Given the description of an element on the screen output the (x, y) to click on. 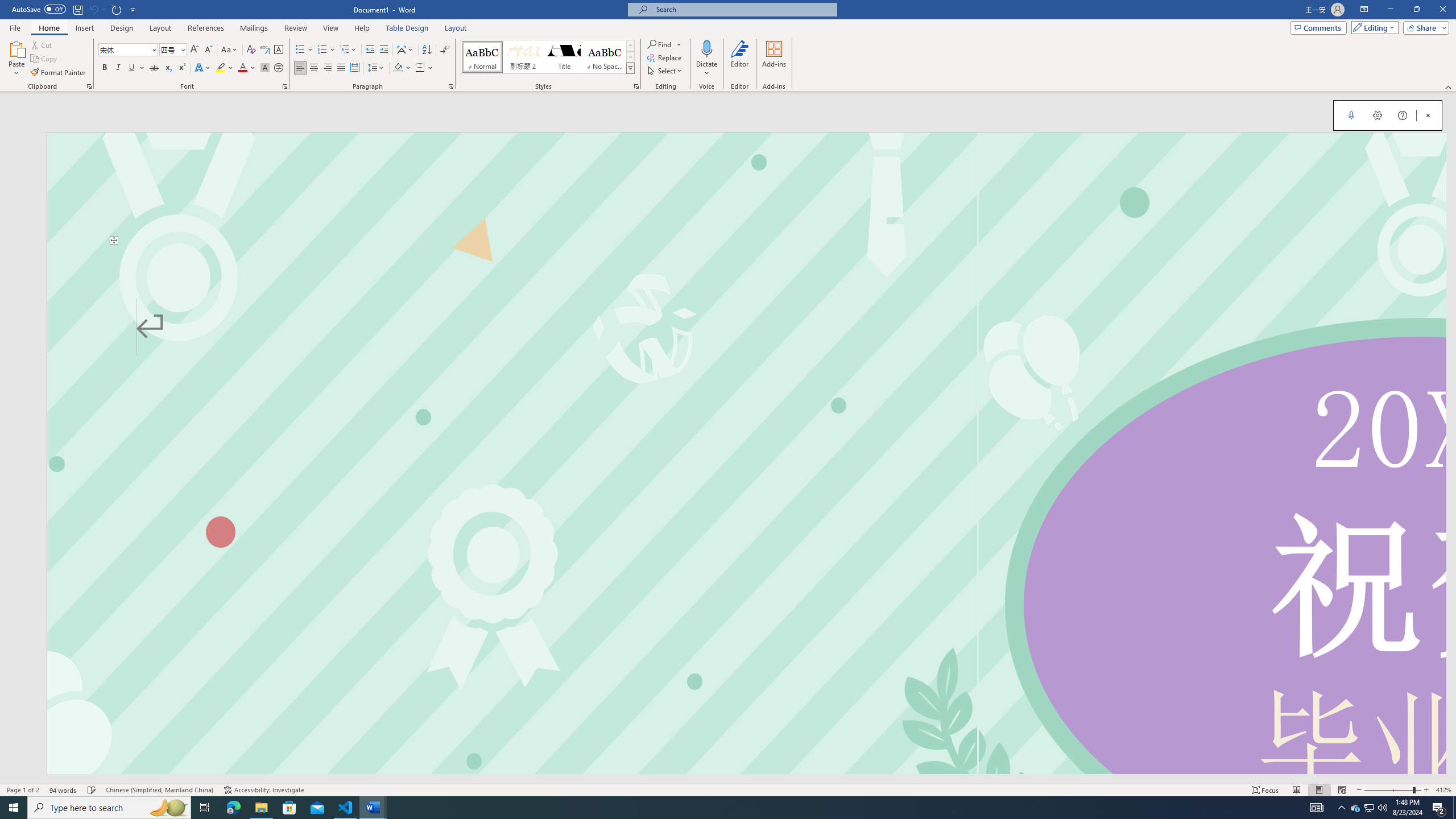
Character Shading (264, 67)
Justify (340, 67)
Spelling and Grammar Check Checking (91, 790)
Font... (285, 85)
Styles... (635, 85)
Language Chinese (Simplified, Mainland China) (159, 790)
